Given the description of an element on the screen output the (x, y) to click on. 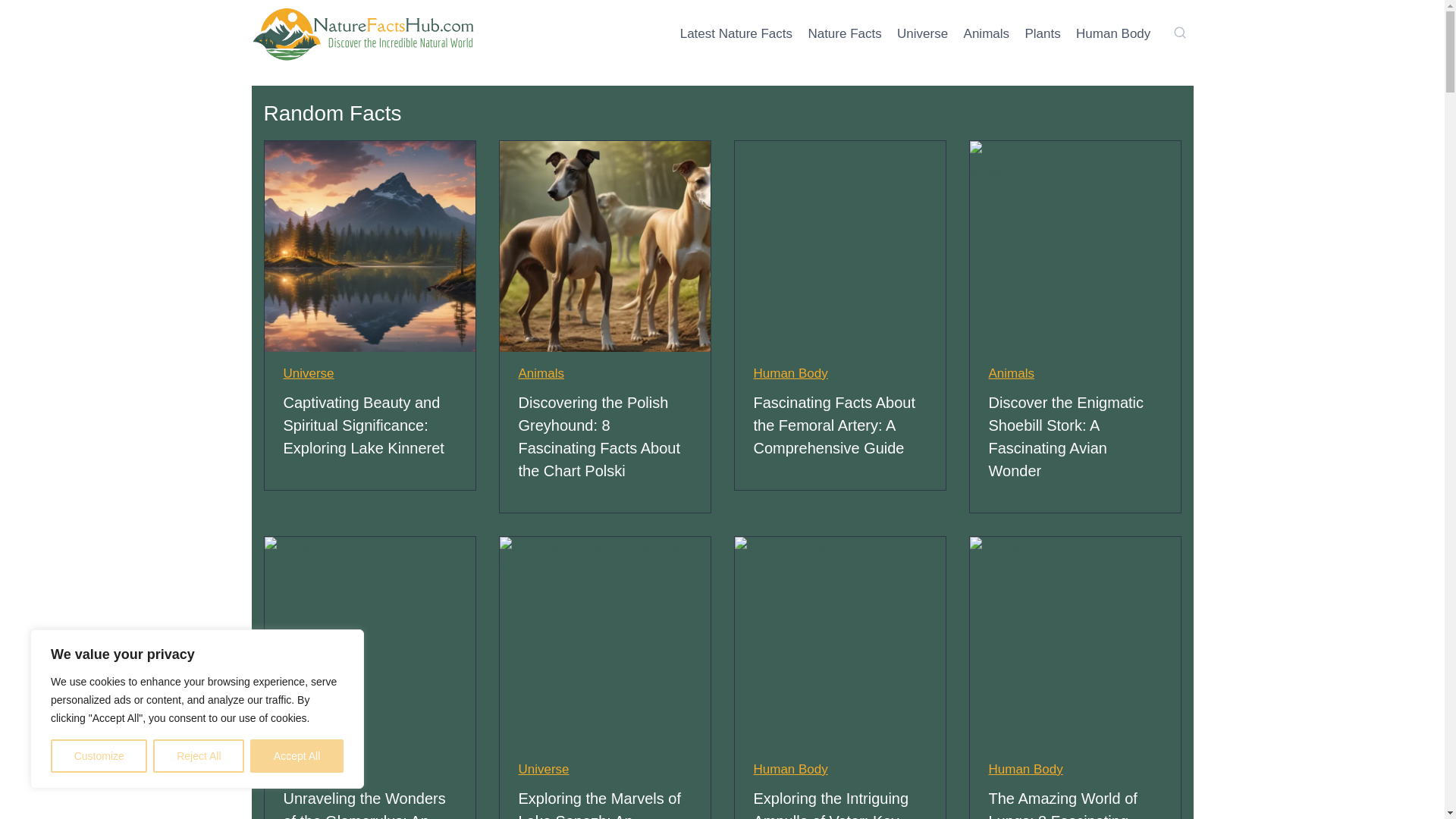
Nature Facts (844, 33)
Human Body (791, 373)
Universe (922, 33)
The Amazing World of Lungs: 8 Fascinating Facts Unveiled 8 (1074, 642)
Universe (308, 373)
